Given the description of an element on the screen output the (x, y) to click on. 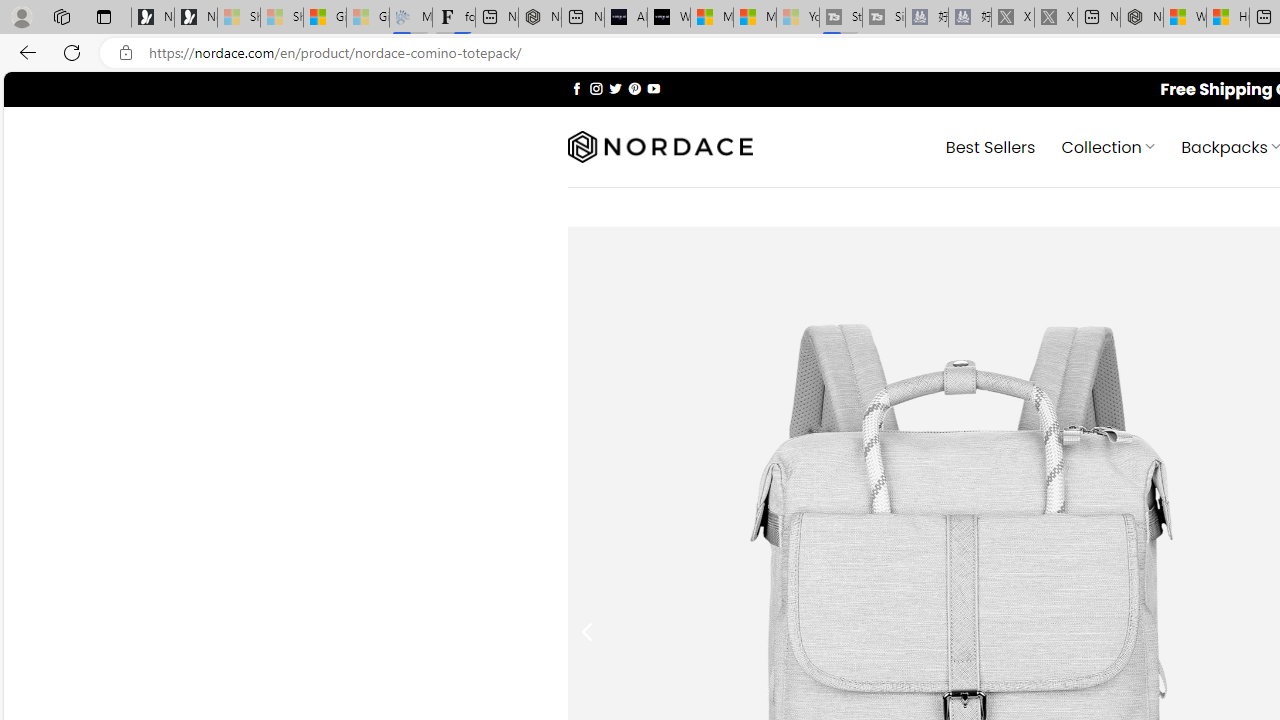
Follow on YouTube (653, 88)
AI Voice Changer for PC and Mac - Voice.ai (625, 17)
Follow on Twitter (615, 88)
Newsletter Sign Up (196, 17)
Follow on Instagram (596, 88)
What's the best AI voice generator? - voice.ai (668, 17)
 Best Sellers (989, 146)
